Given the description of an element on the screen output the (x, y) to click on. 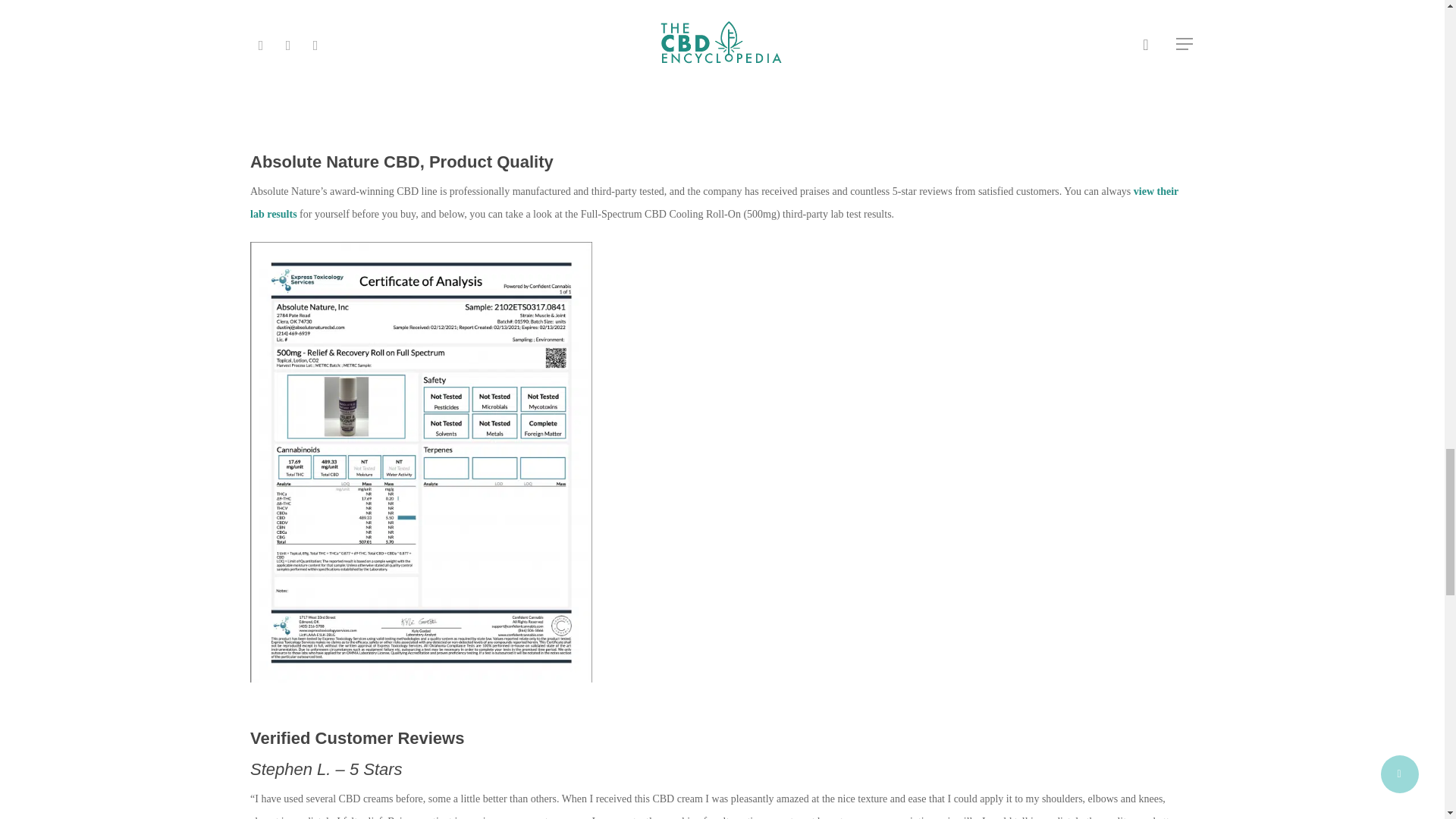
Absolute Nature Lab Results (713, 202)
view their lab results (713, 202)
